Given the description of an element on the screen output the (x, y) to click on. 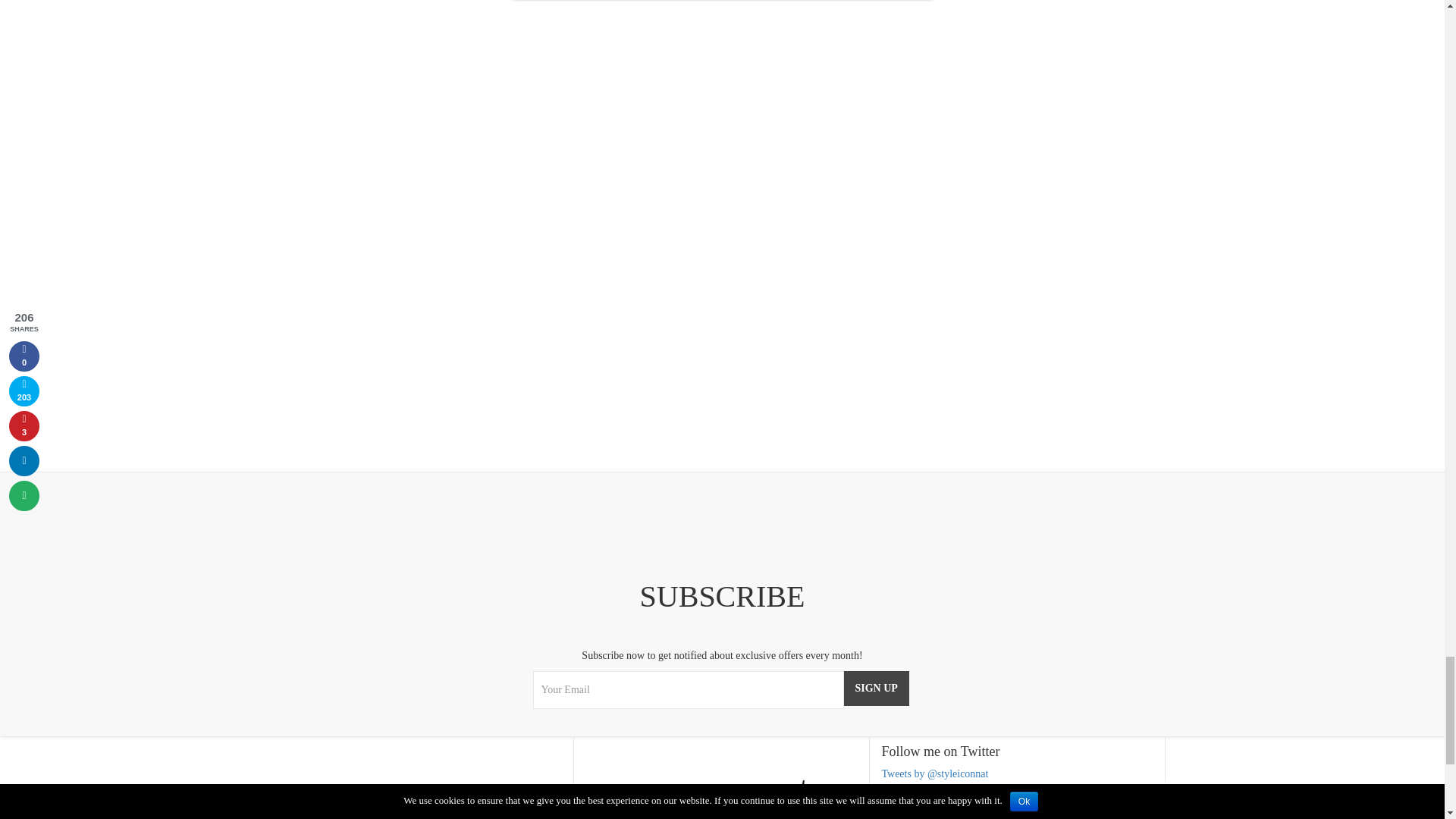
SIGN UP (875, 687)
